Given the description of an element on the screen output the (x, y) to click on. 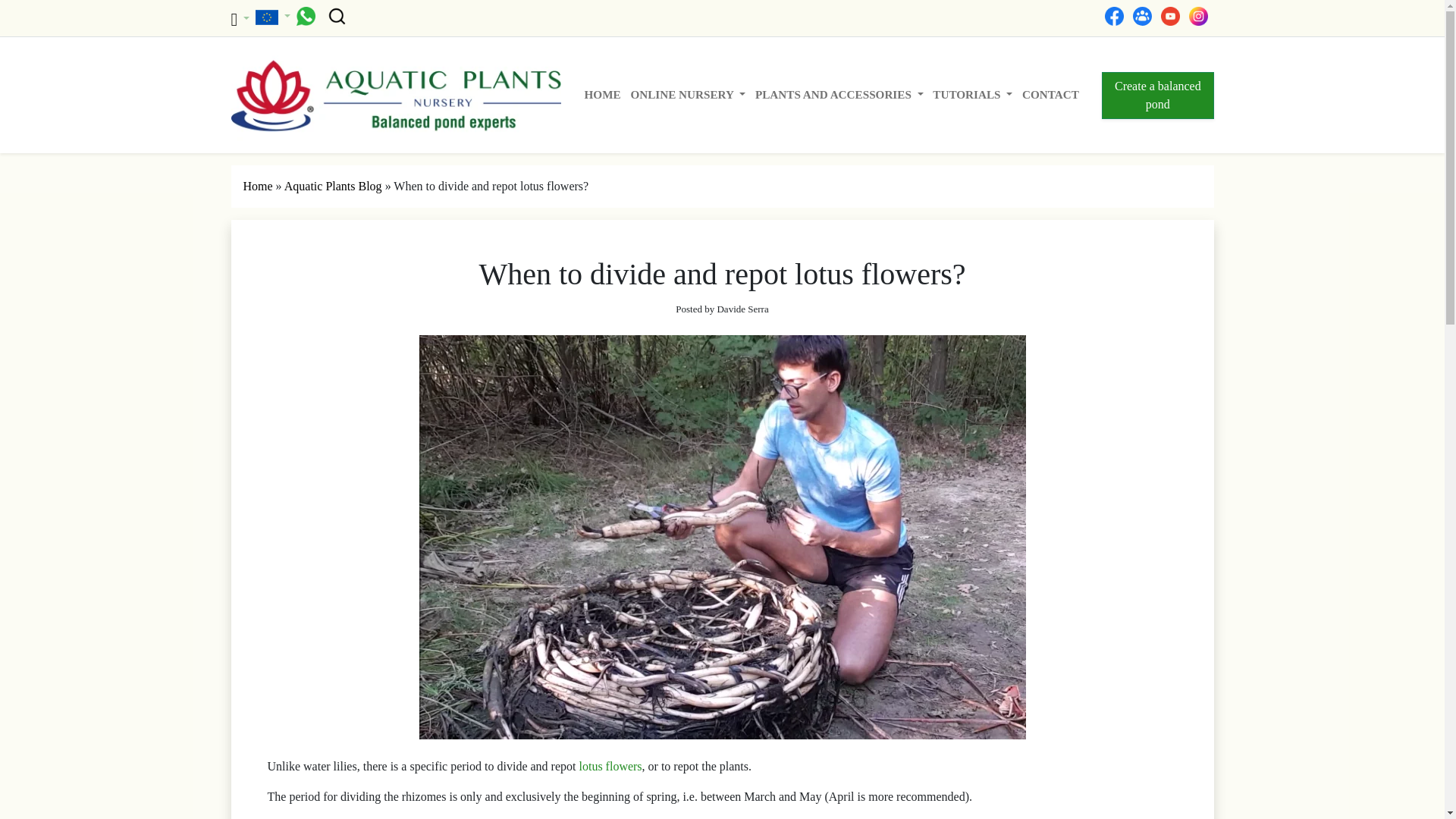
PLANTS AND ACCESSORIES (839, 94)
Home (602, 94)
ONLINE NURSERY (688, 94)
PLANTS AND ACCESSORIES (839, 94)
ONLINE NURSERY (688, 94)
Aquatic Plants Nursery (395, 94)
HOME (602, 94)
TUTORIALS (972, 94)
